Given the description of an element on the screen output the (x, y) to click on. 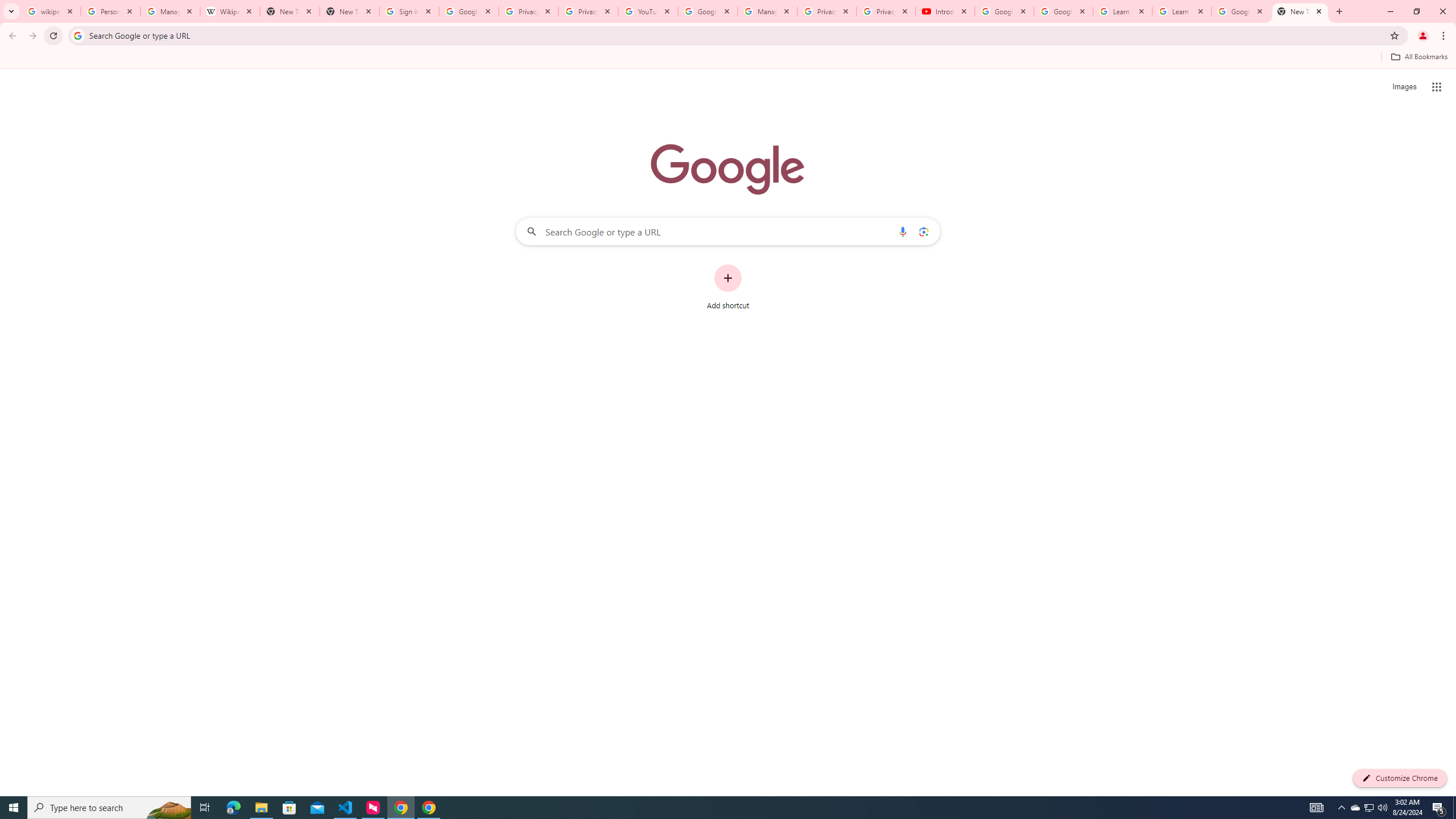
YouTube (647, 11)
Google Account Help (1063, 11)
